Given the description of an element on the screen output the (x, y) to click on. 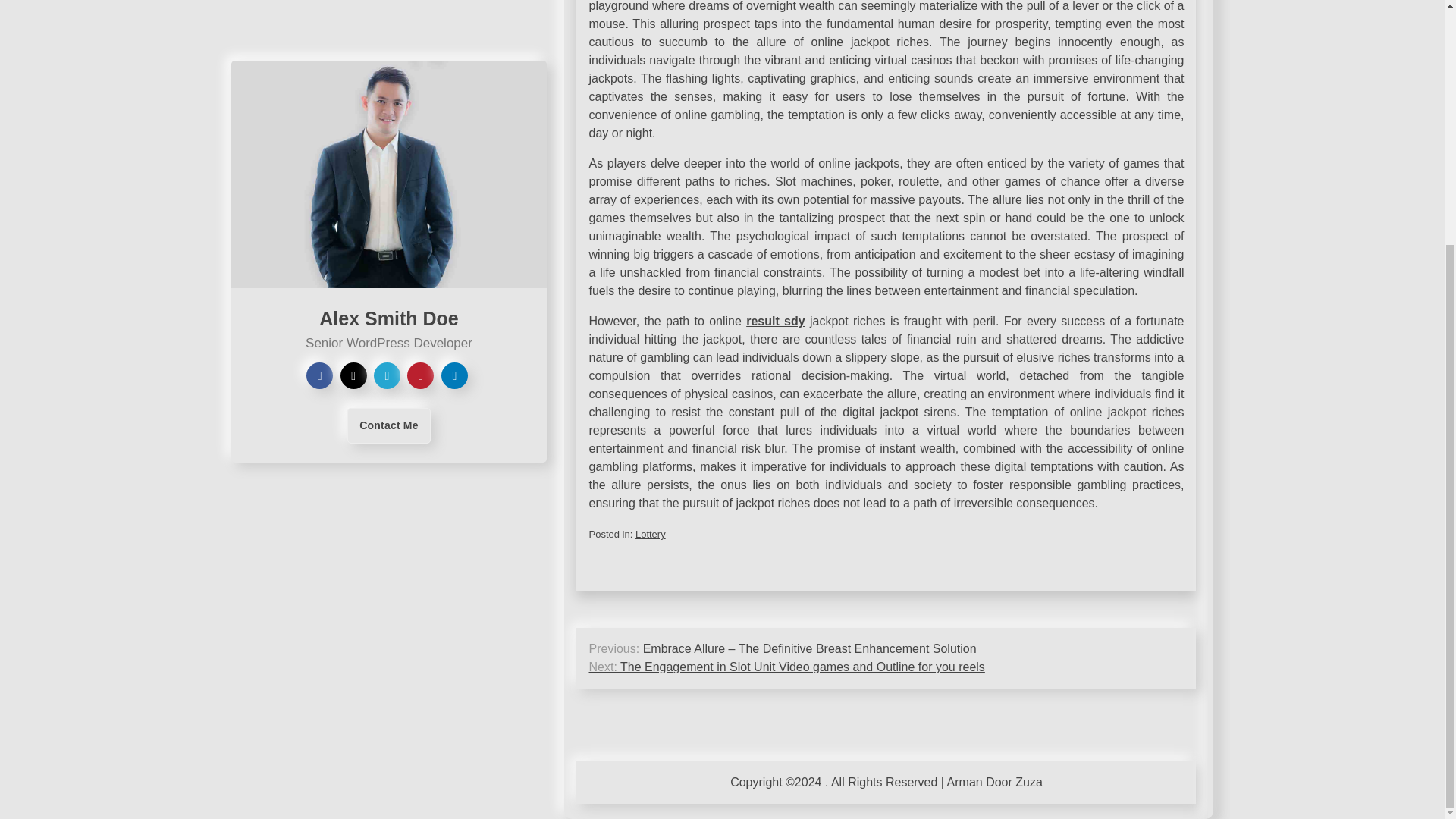
result sdy (775, 320)
Lottery (649, 533)
Contact Me (388, 85)
